Given the description of an element on the screen output the (x, y) to click on. 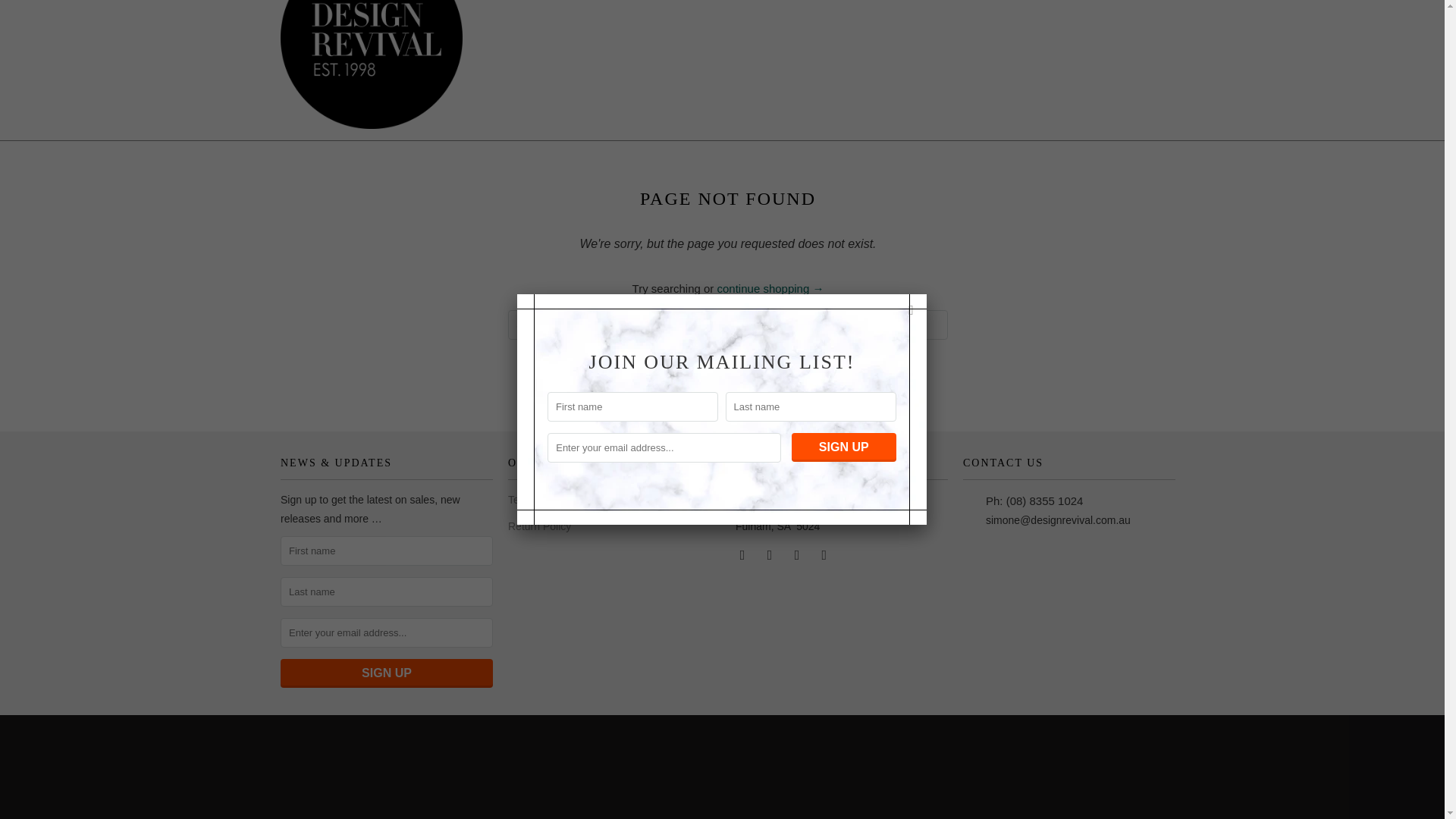
Design Revival Online on Houzz (798, 554)
Design Revival Online on Facebook (743, 554)
Email Design Revival Online (825, 554)
Return Policy (539, 526)
Design Revival Online (372, 64)
Sign Up (387, 673)
Design Revival Online on Instagram (770, 554)
Close (911, 224)
Sign Up (844, 362)
